Given the description of an element on the screen output the (x, y) to click on. 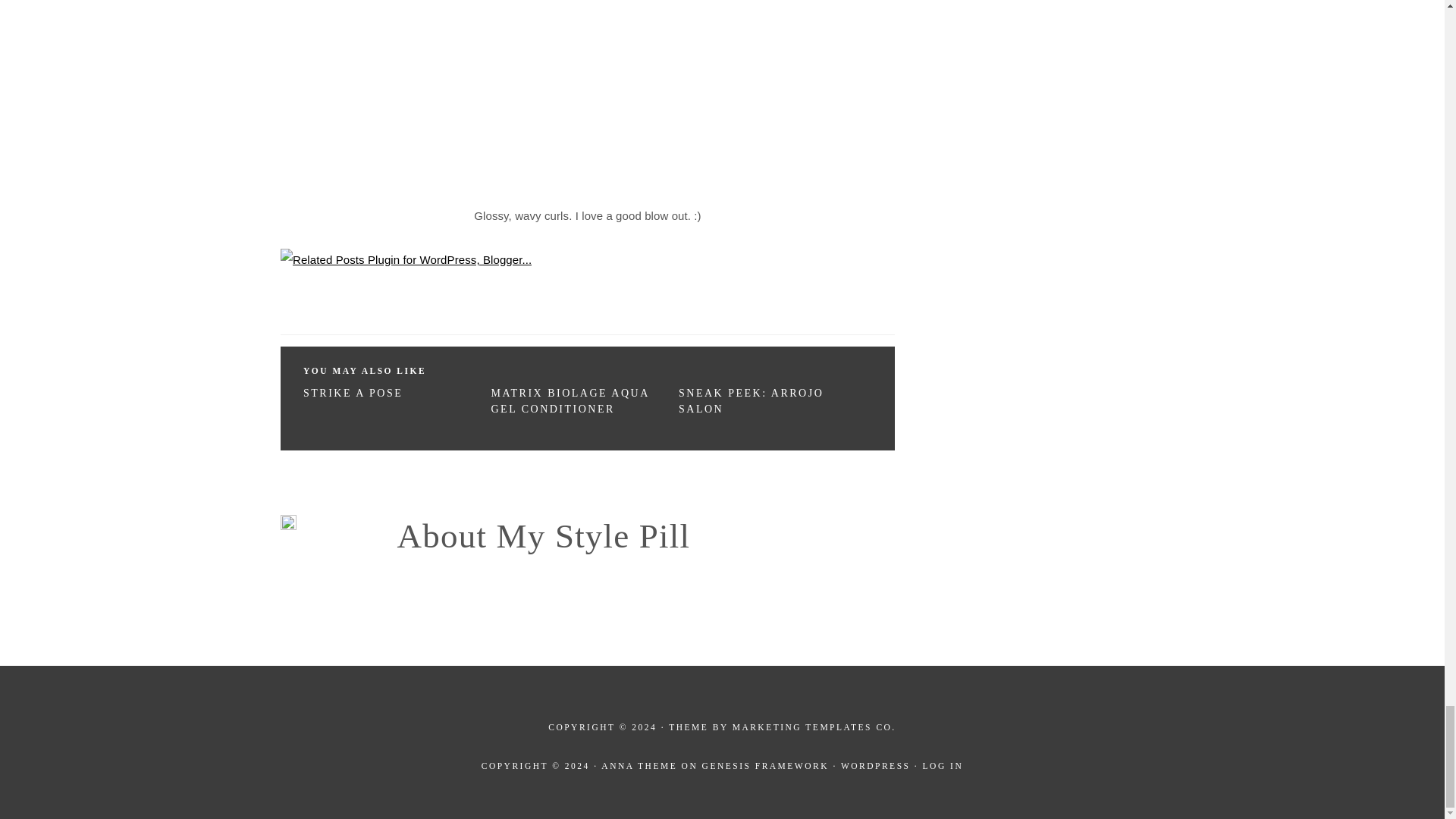
MATRIX BIOLAGE AQUA GEL CONDITIONER (570, 400)
Matrix Biolage Aqua Gel Conditioner (570, 400)
SNEAK PEEK: ARROJO SALON (751, 400)
STRIKE A POSE (352, 392)
Strike A Pose (352, 392)
Sneak Peek: Arrojo Salon (751, 400)
